Given the description of an element on the screen output the (x, y) to click on. 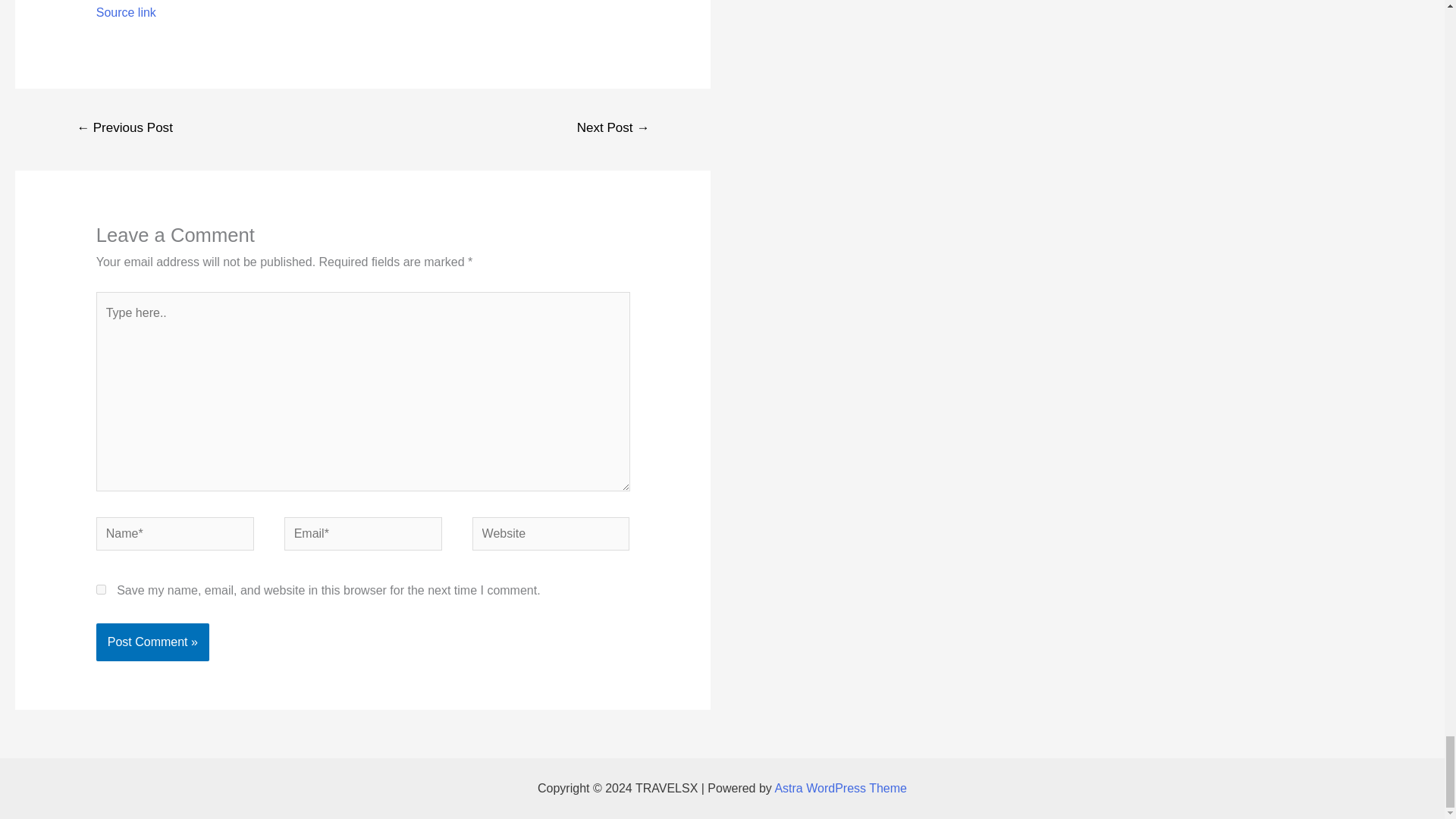
Source link (125, 11)
yes (101, 589)
